Given the description of an element on the screen output the (x, y) to click on. 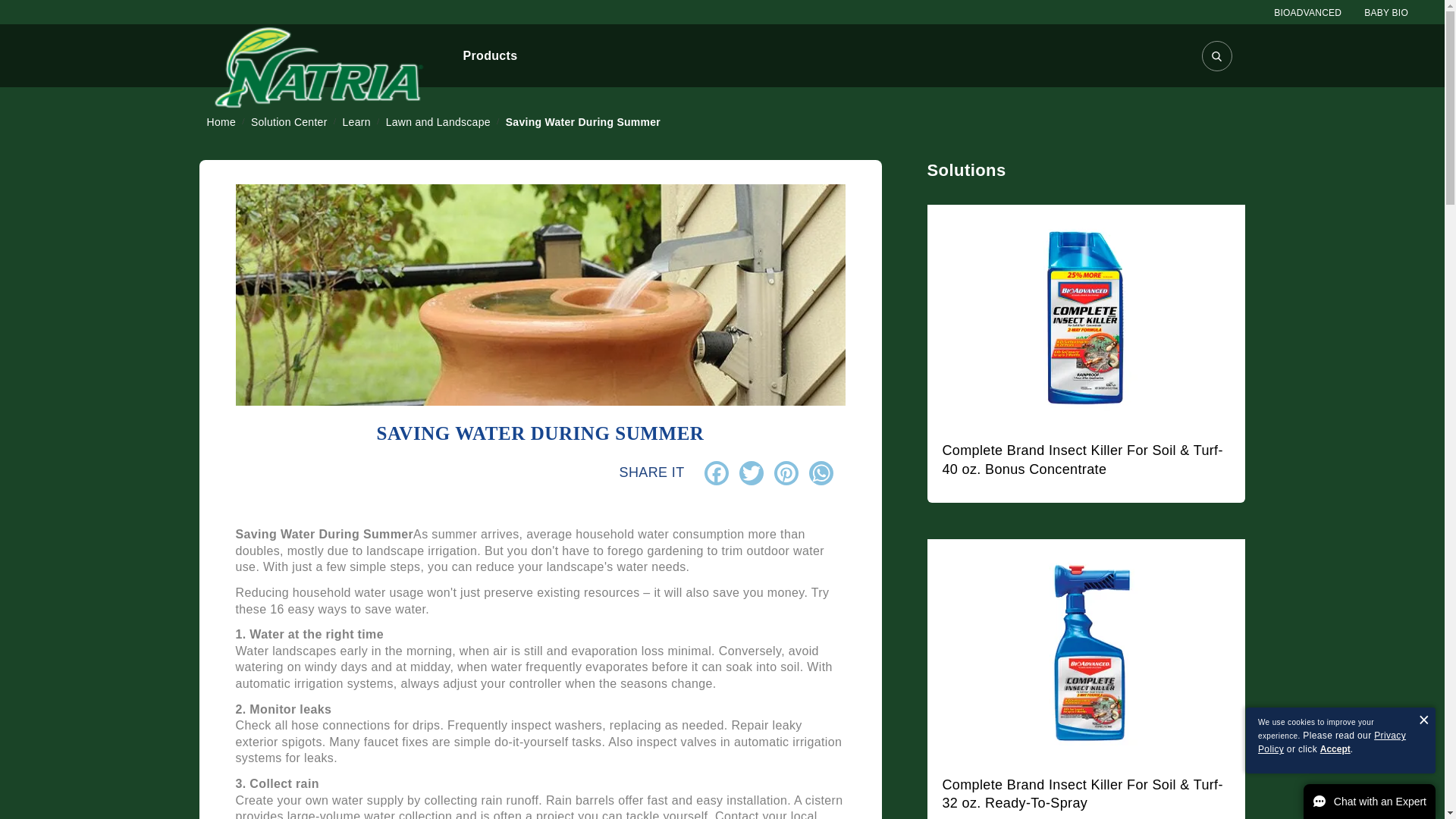
Lawn and Landscape (439, 121)
Solution Center (290, 121)
WhatsApp (820, 473)
Learn (358, 121)
Accept (1335, 748)
BIOADVANCED (1307, 12)
Facebook (715, 473)
Pinterest (785, 473)
Solution Center (290, 121)
Lawn and Landscape (439, 121)
Home (222, 121)
Products (489, 55)
BABY BIO (1385, 12)
Go to Home Page (222, 121)
Learn (358, 121)
